Given the description of an element on the screen output the (x, y) to click on. 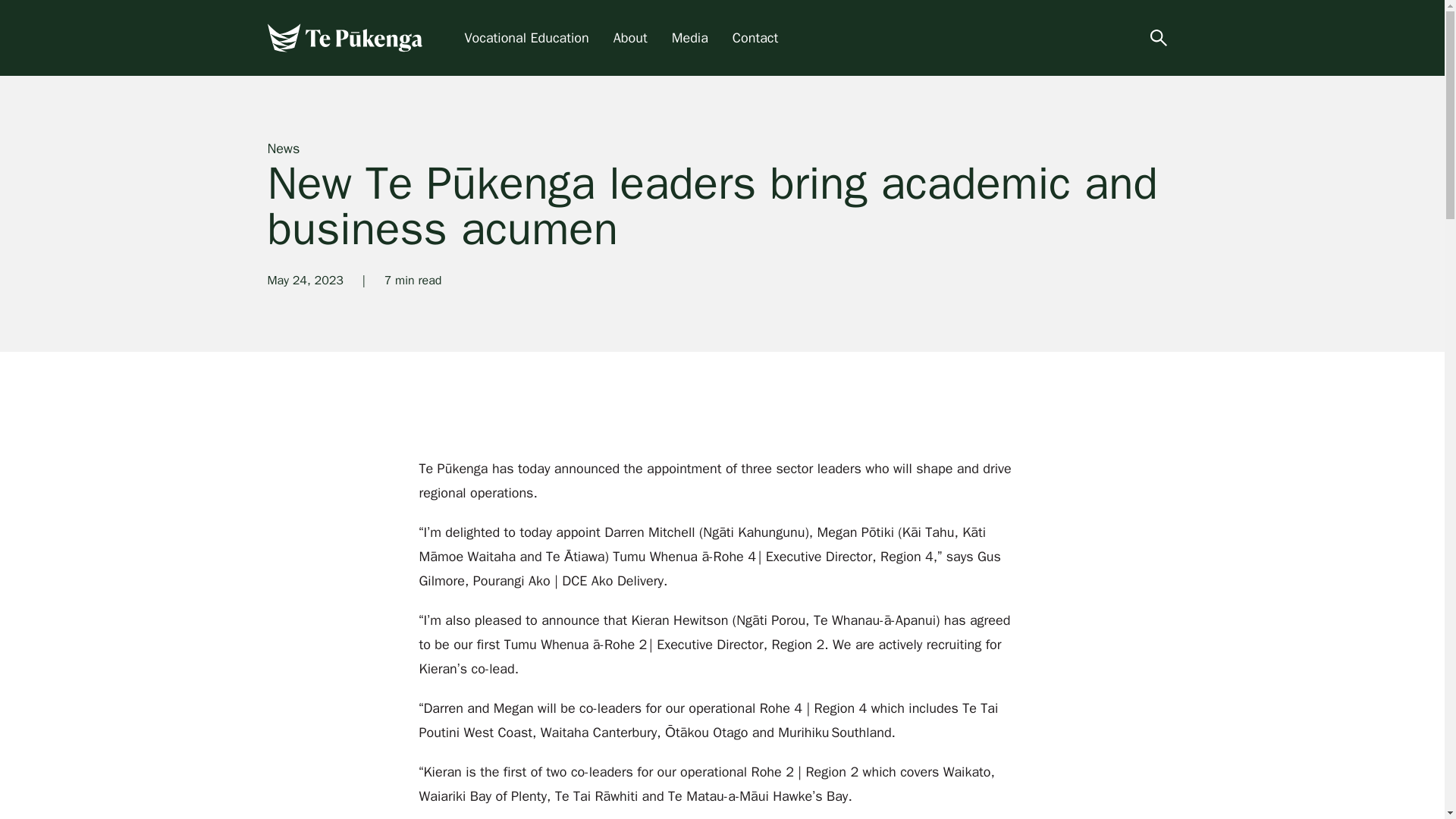
Open search (1157, 37)
Vocational Education (526, 38)
News (282, 148)
